Given the description of an element on the screen output the (x, y) to click on. 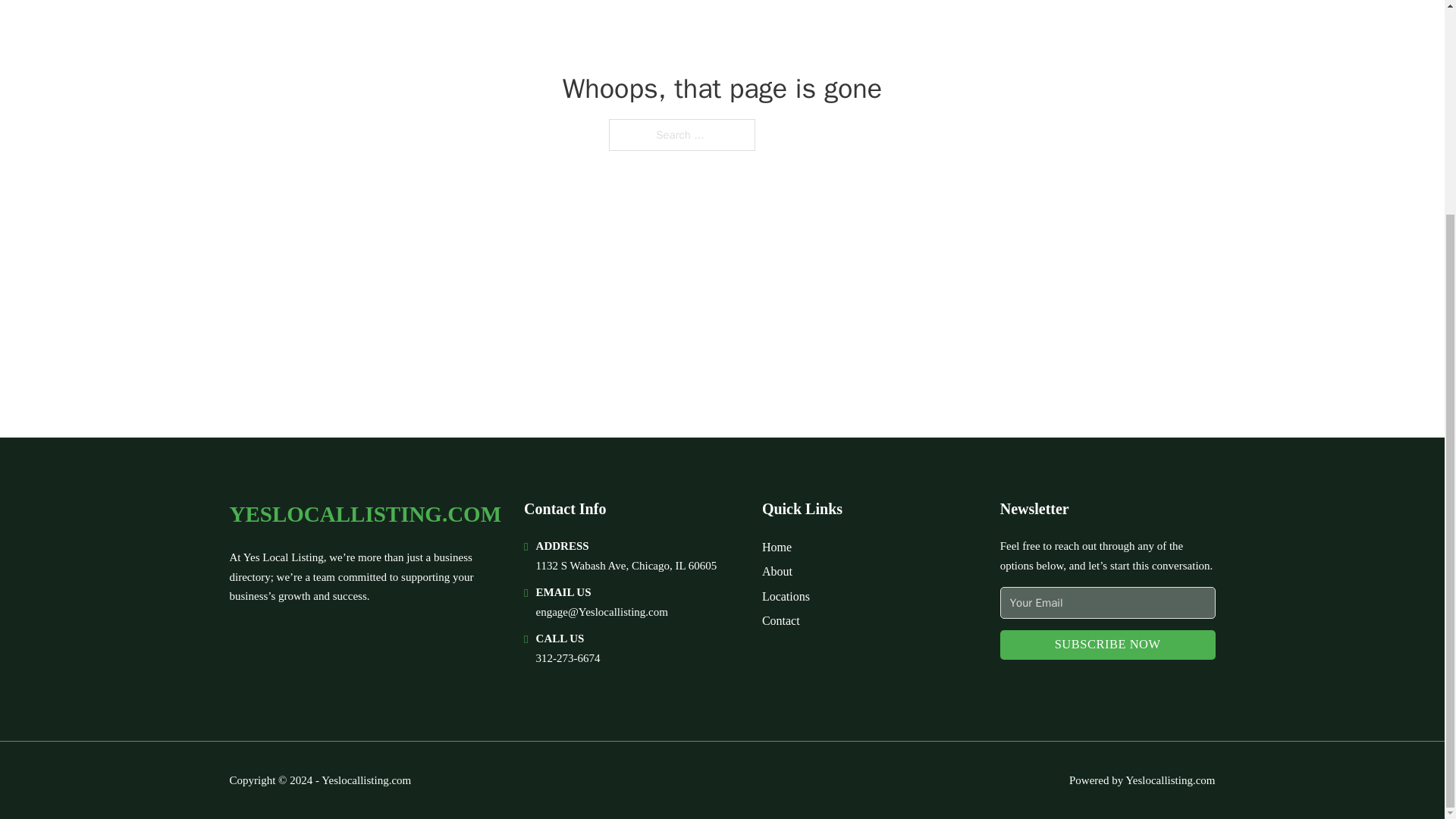
YESLOCALLISTING.COM (364, 514)
Contact (780, 620)
312-273-6674 (567, 657)
Locations (785, 596)
About (776, 571)
Home (776, 547)
SUBSCRIBE NOW (1107, 644)
